Given the description of an element on the screen output the (x, y) to click on. 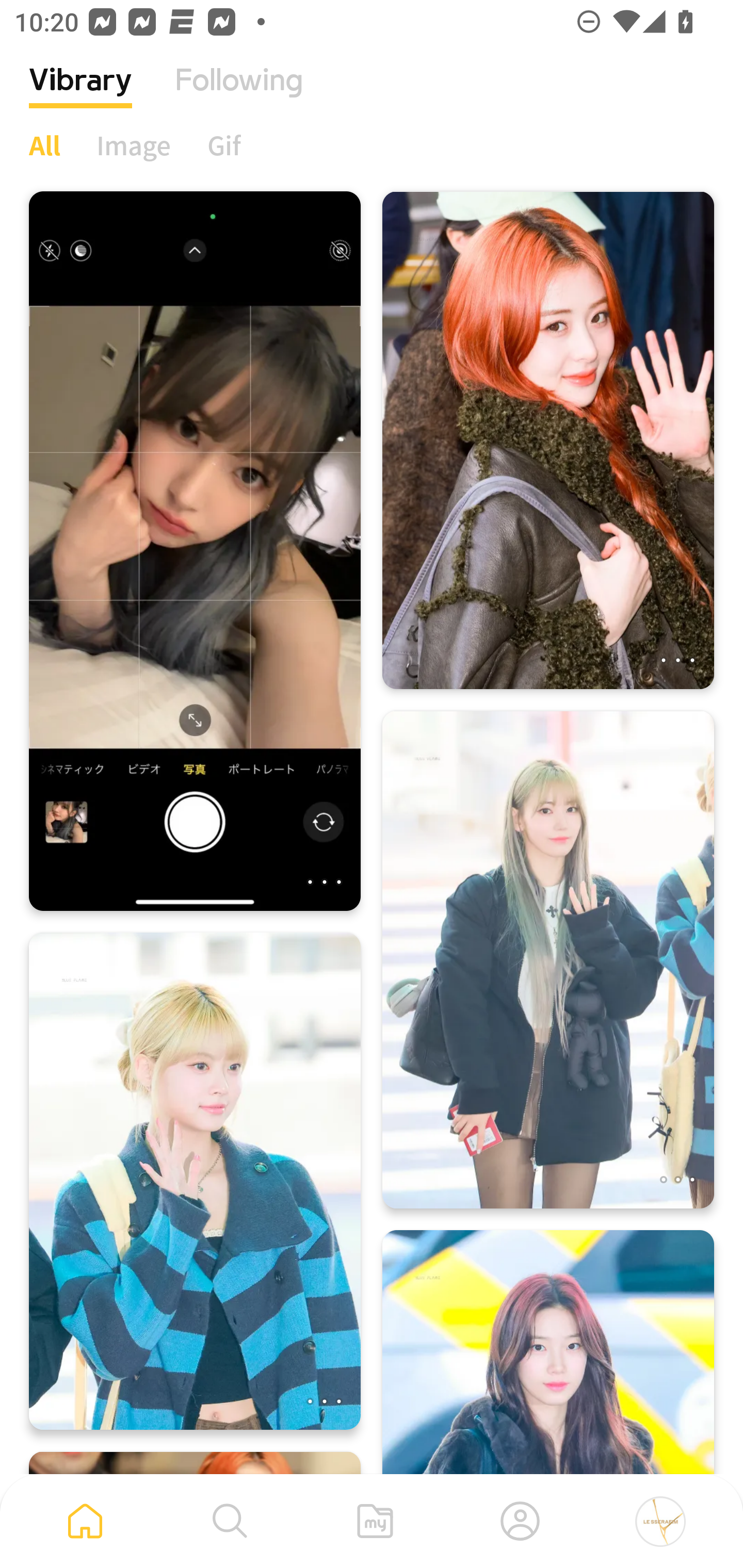
Vibrary (80, 95)
Following (239, 95)
All (44, 145)
Image (133, 145)
Gif (223, 145)
